Given the description of an element on the screen output the (x, y) to click on. 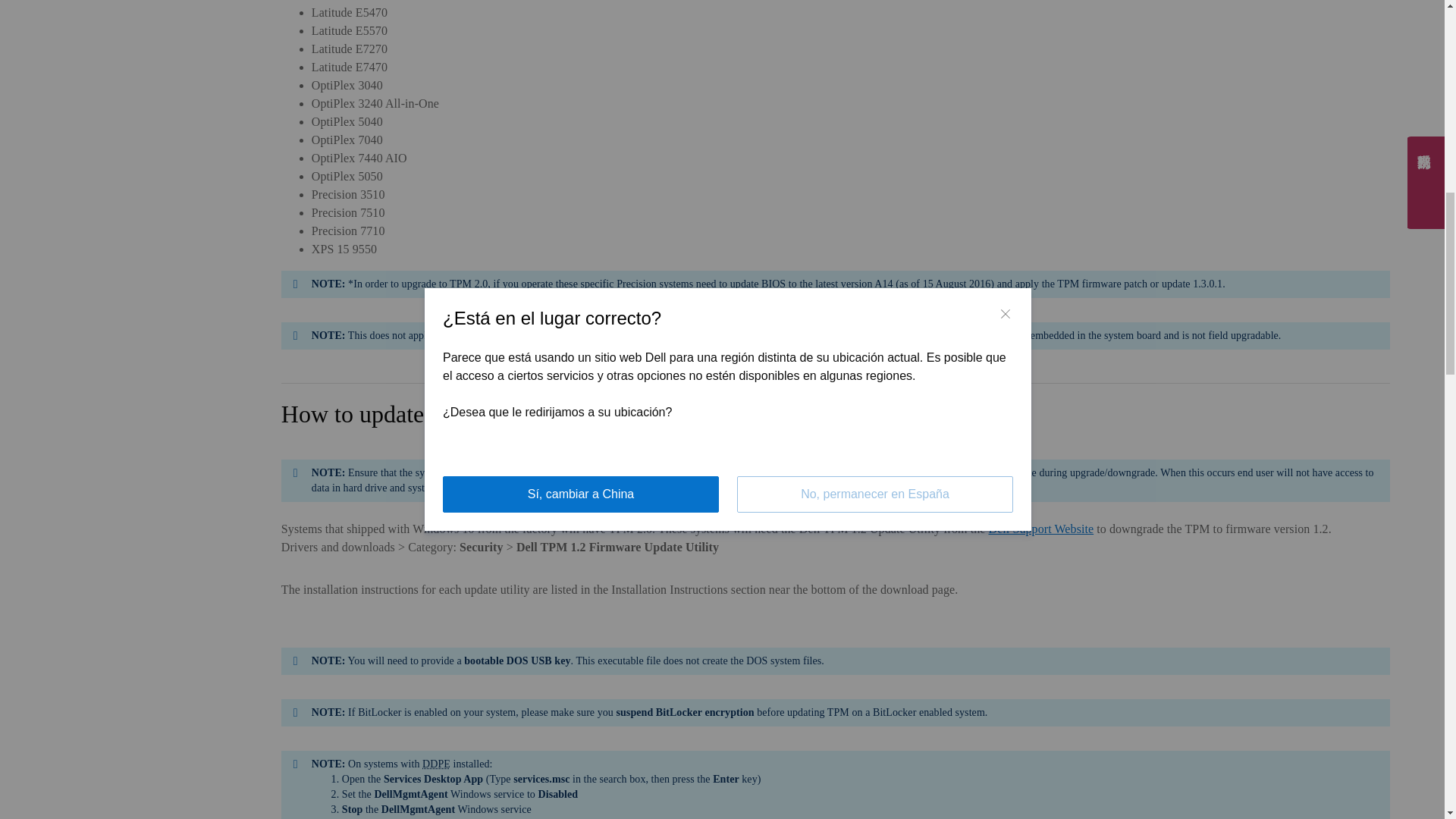
Trusted Platform Module (490, 413)
Dell Data Protection Encryption (435, 763)
